Given the description of an element on the screen output the (x, y) to click on. 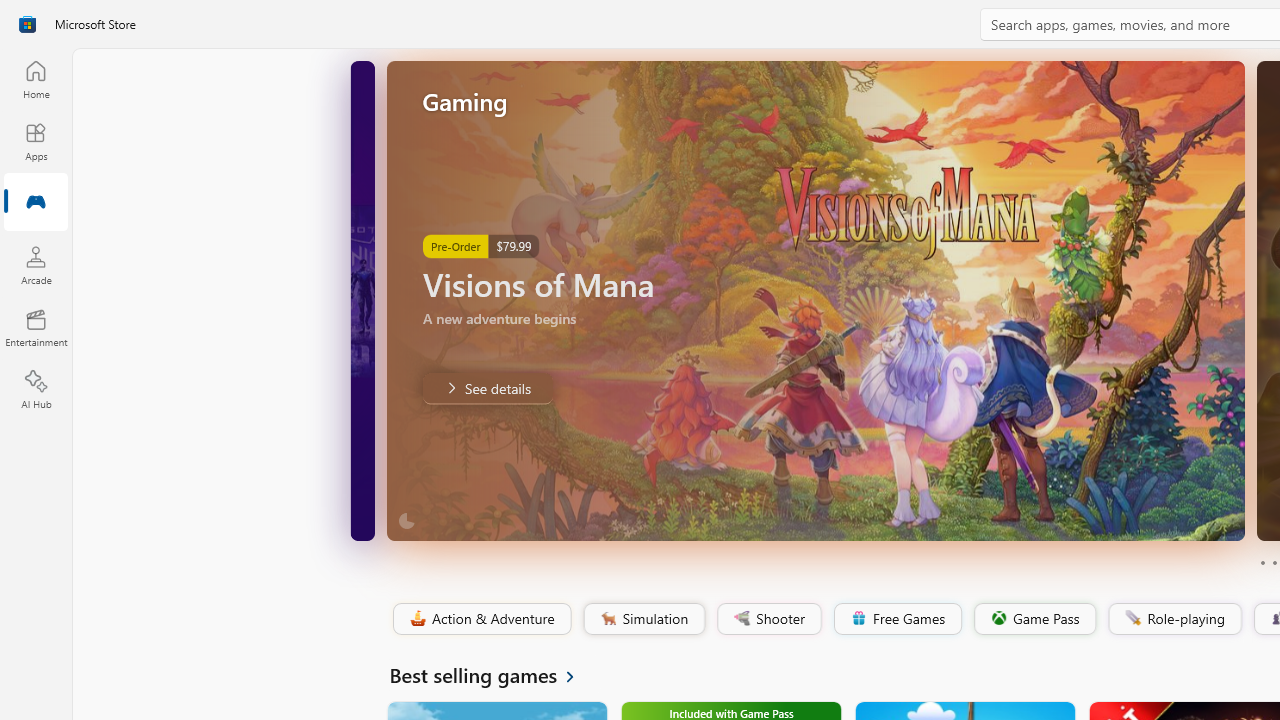
Role-playing (1174, 619)
Action & Adventure (480, 619)
